Given the description of an element on the screen output the (x, y) to click on. 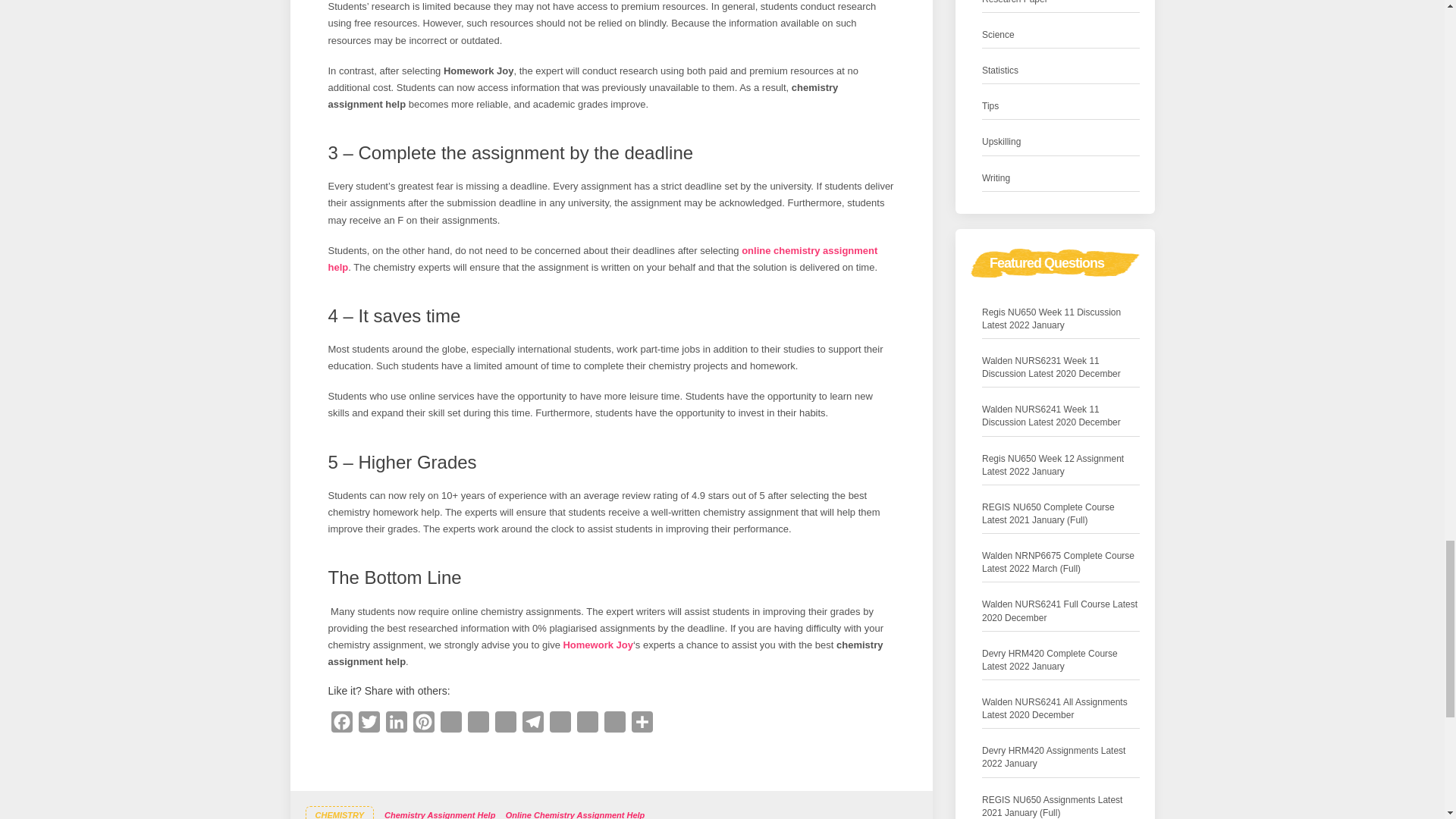
Twitter (368, 725)
LinkedIn (395, 725)
Email (586, 725)
Pinterest (422, 725)
WhatsApp (450, 725)
WeChat (559, 725)
Share (641, 725)
Telegram (532, 725)
Homework Joy (596, 644)
Twitter (368, 725)
